Given the description of an element on the screen output the (x, y) to click on. 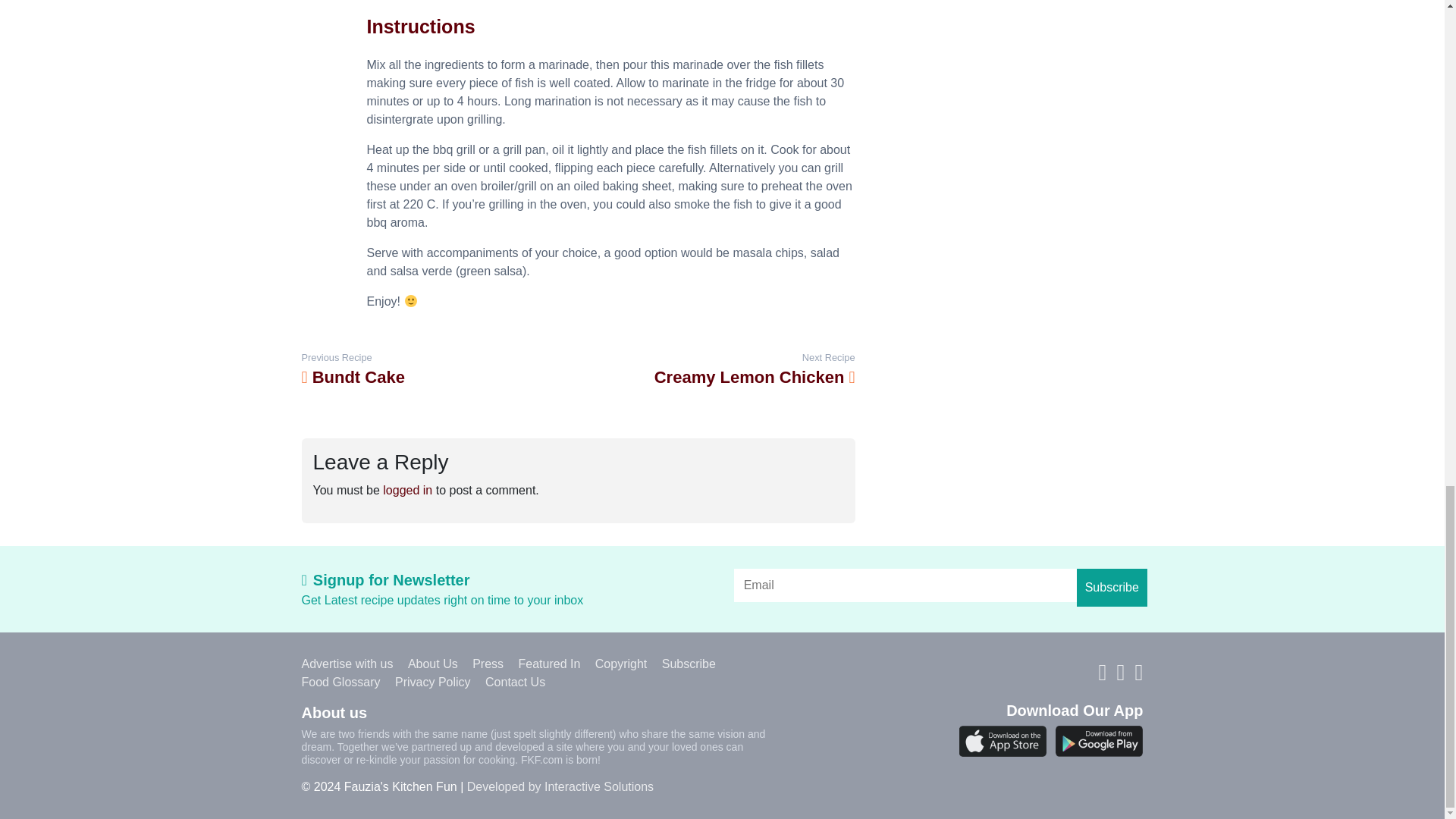
Subscribe (1112, 587)
